Given the description of an element on the screen output the (x, y) to click on. 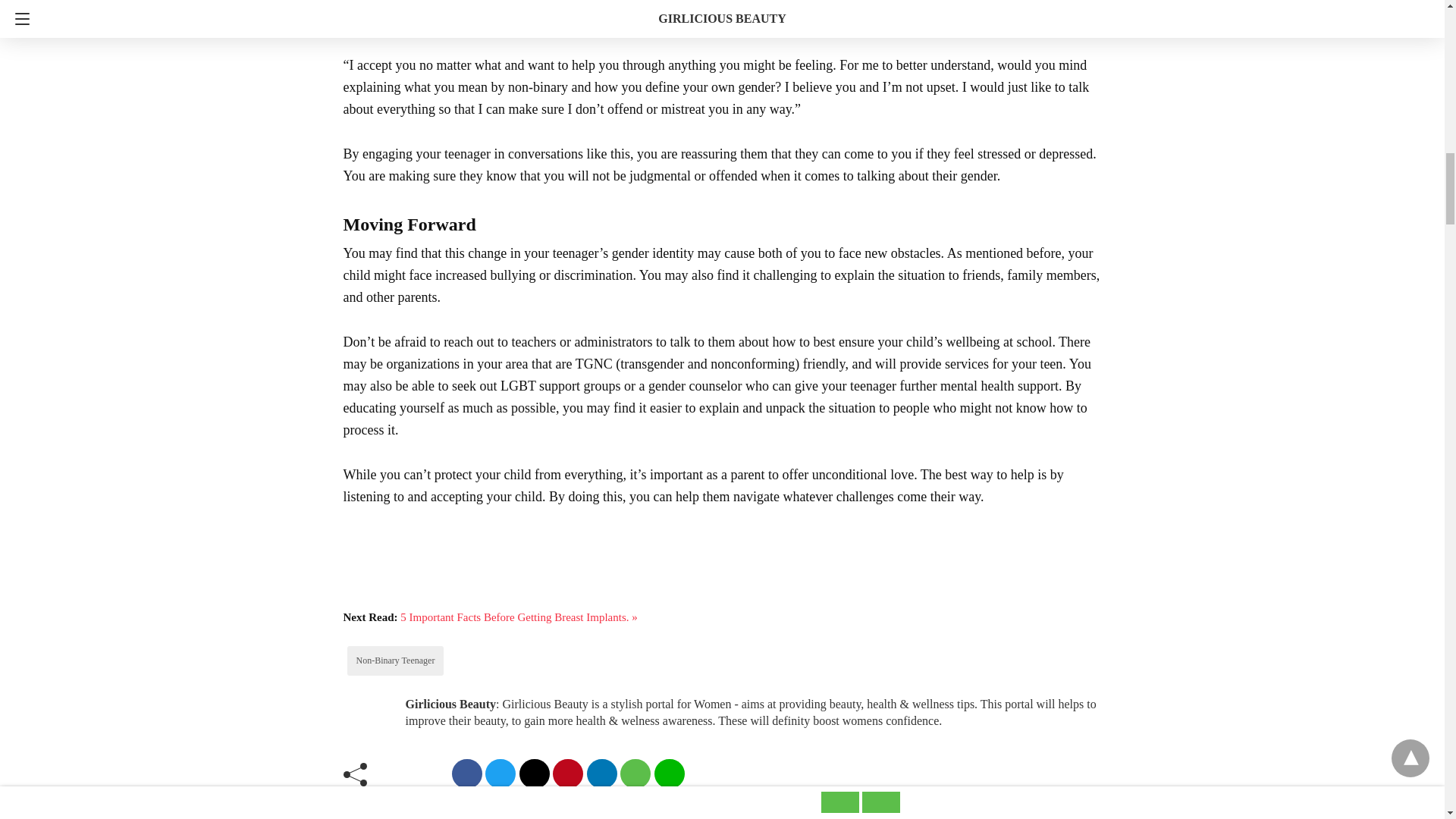
twitter share (499, 773)
line share (668, 773)
facebook share (466, 773)
mailto (533, 773)
pinterest share (568, 773)
Non-Binary Teenager (395, 660)
linkedin share (601, 773)
whatsapp share (635, 773)
